Given the description of an element on the screen output the (x, y) to click on. 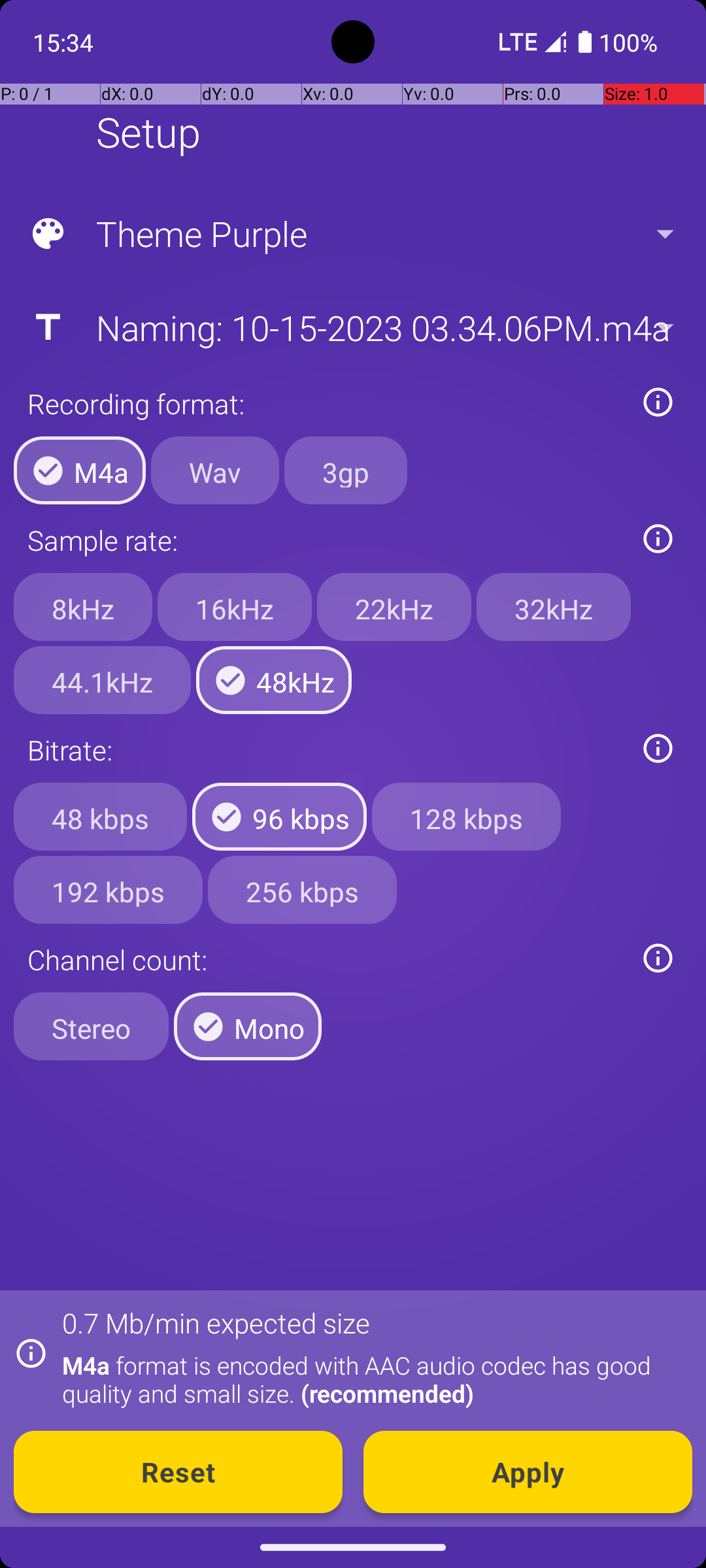
0.7 Mb/min expected size Element type: android.widget.TextView (215, 1322)
Naming: 10-15-2023 03.34.06PM.m4a Element type: android.widget.TextView (352, 327)
